Given the description of an element on the screen output the (x, y) to click on. 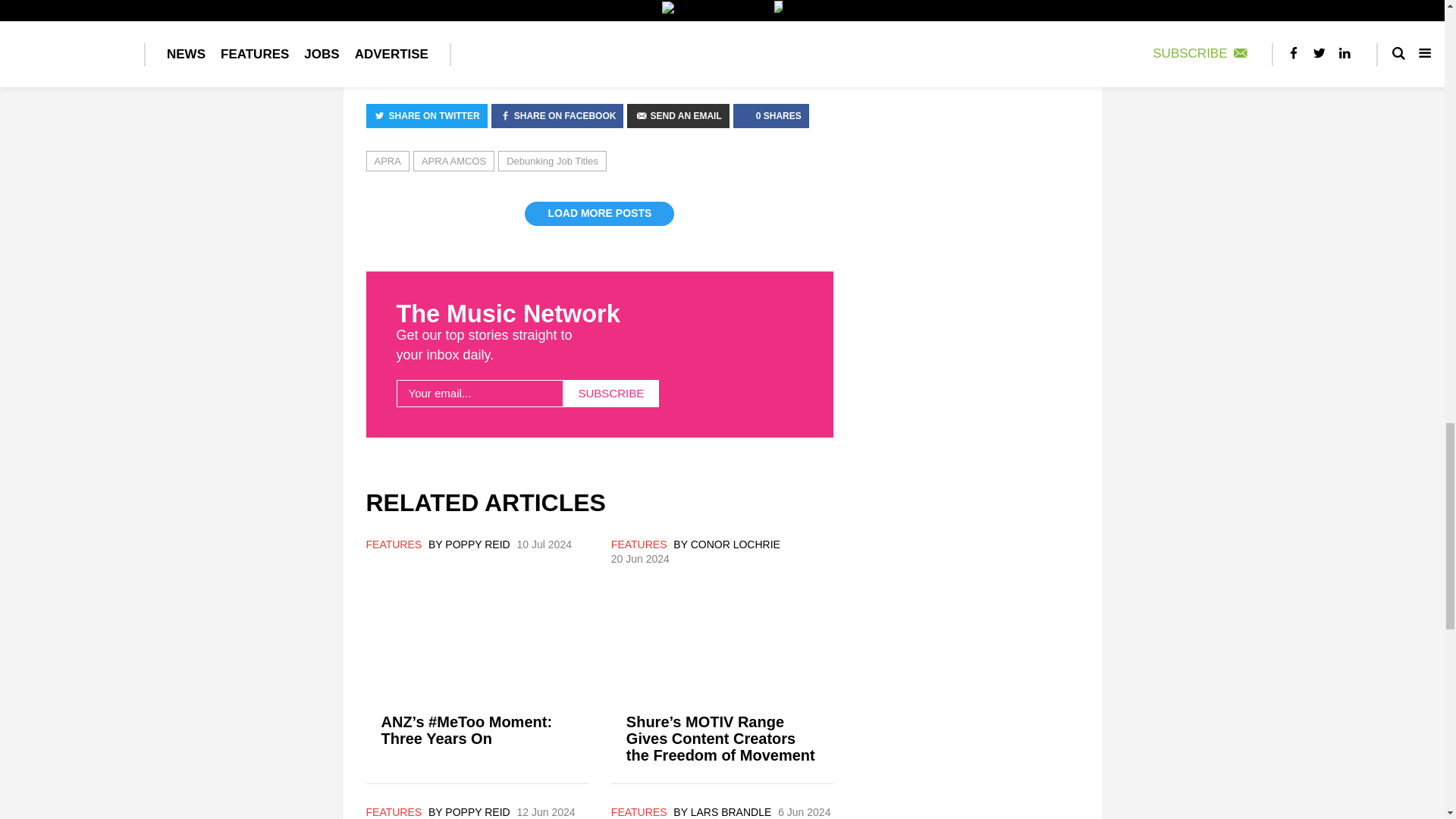
Subscribe (610, 393)
